Given the description of an element on the screen output the (x, y) to click on. 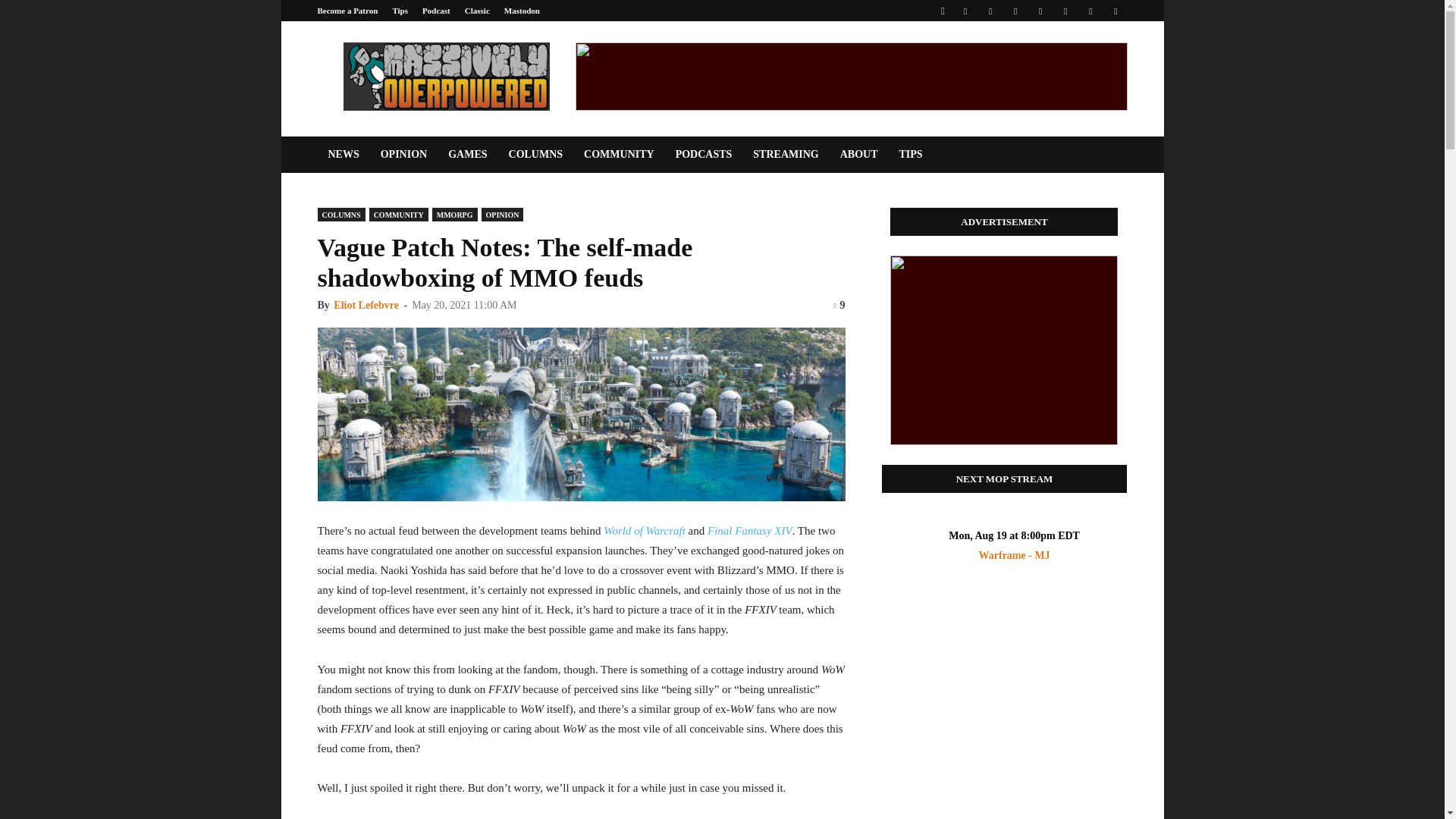
Youtube (1114, 10)
Twitch (1065, 10)
Paypal (1015, 10)
Patreon (989, 10)
Facebook (964, 10)
MassivelyOP.com (445, 76)
Twitter (1090, 10)
RSS (1040, 10)
